Given the description of an element on the screen output the (x, y) to click on. 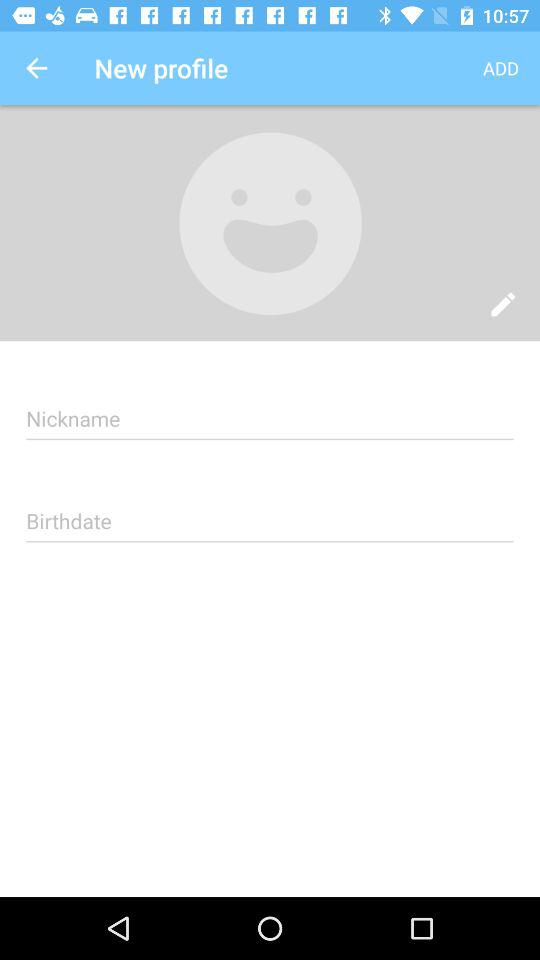
turn on the icon to the left of the new profile icon (36, 68)
